Given the description of an element on the screen output the (x, y) to click on. 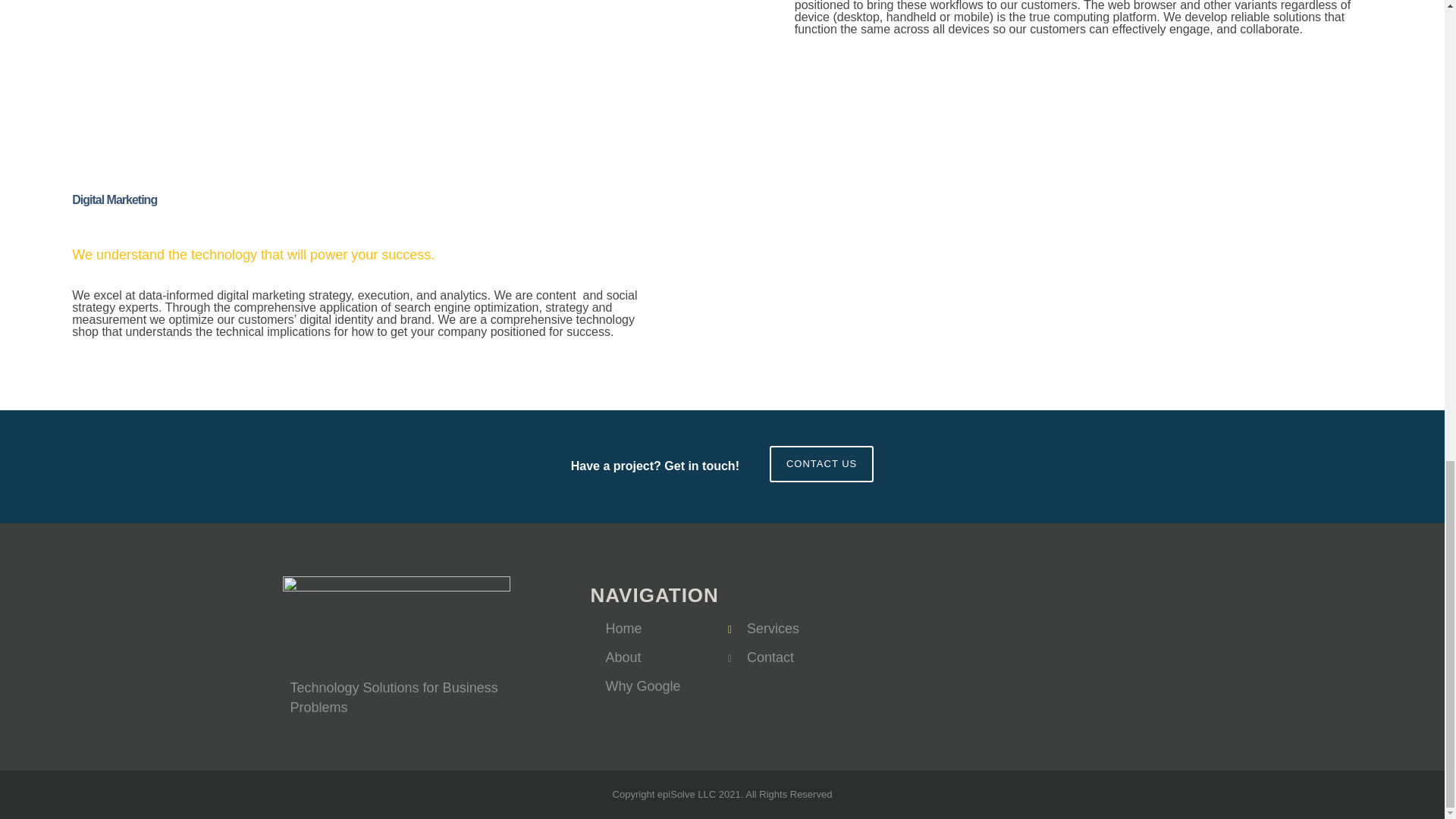
Why Google (642, 685)
About (622, 657)
Contact (769, 657)
Services (772, 628)
CONTACT US (821, 463)
Home (623, 628)
Why Google (642, 685)
Home (623, 628)
About (622, 657)
